Given the description of an element on the screen output the (x, y) to click on. 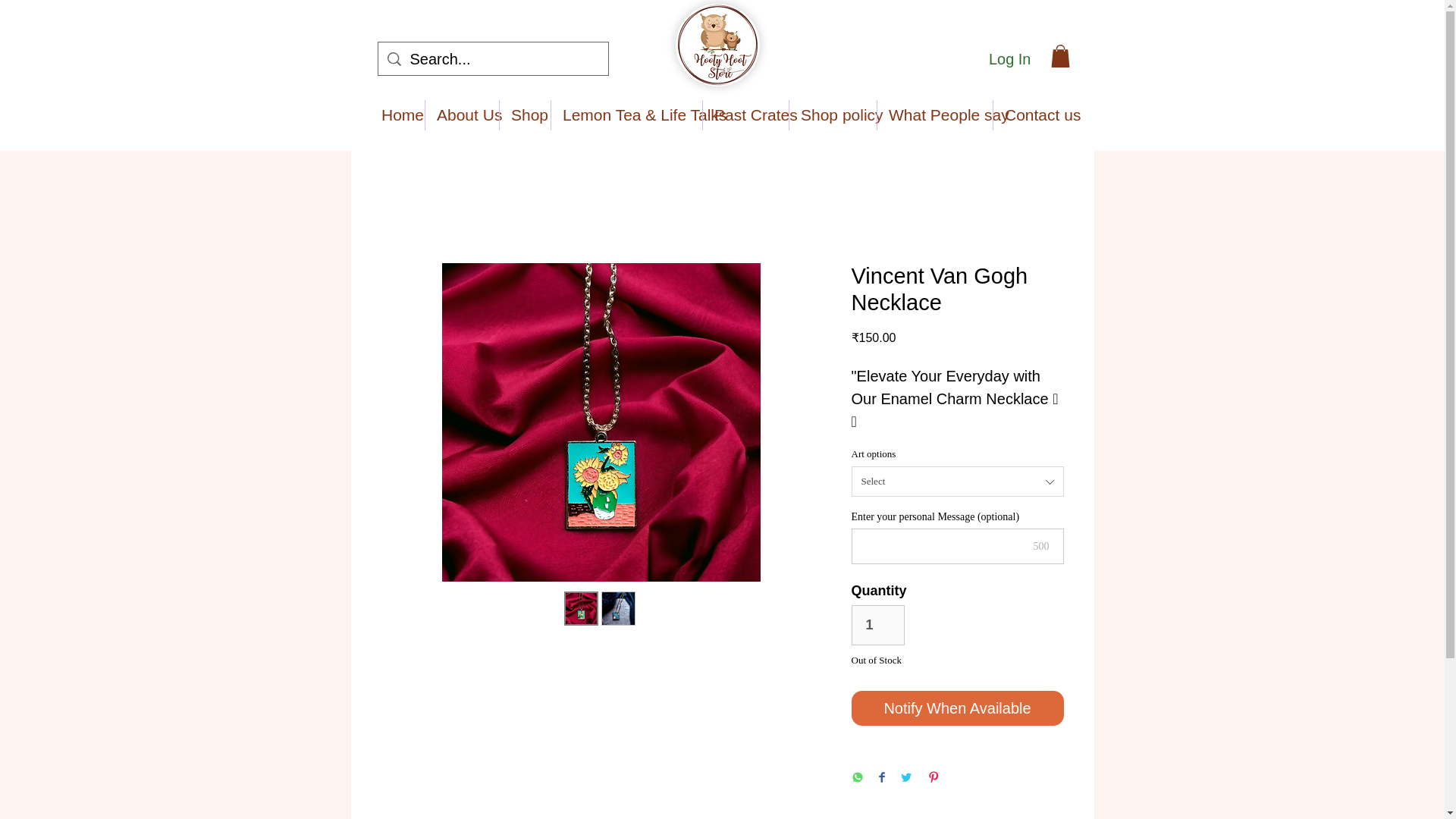
Past Crates (746, 114)
1 (877, 624)
Select (956, 481)
Contact us (1033, 114)
Shop policy (832, 114)
What People say (934, 114)
Log In (1010, 59)
Notify When Available (956, 708)
About Us (462, 114)
Shop (524, 114)
Home (397, 114)
